Given the description of an element on the screen output the (x, y) to click on. 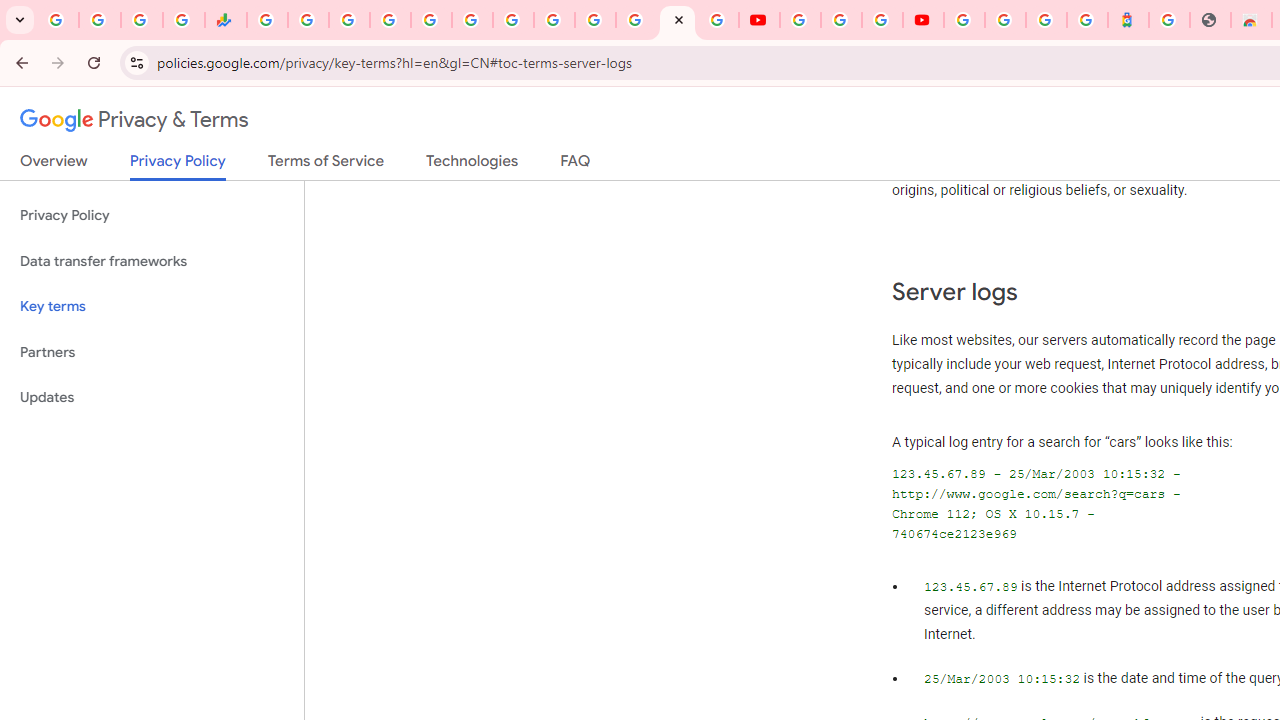
Sign in - Google Accounts (1005, 20)
Sign in - Google Accounts (964, 20)
Partners (152, 352)
Google Workspace Admin Community (58, 20)
Updates (152, 398)
